Given the description of an element on the screen output the (x, y) to click on. 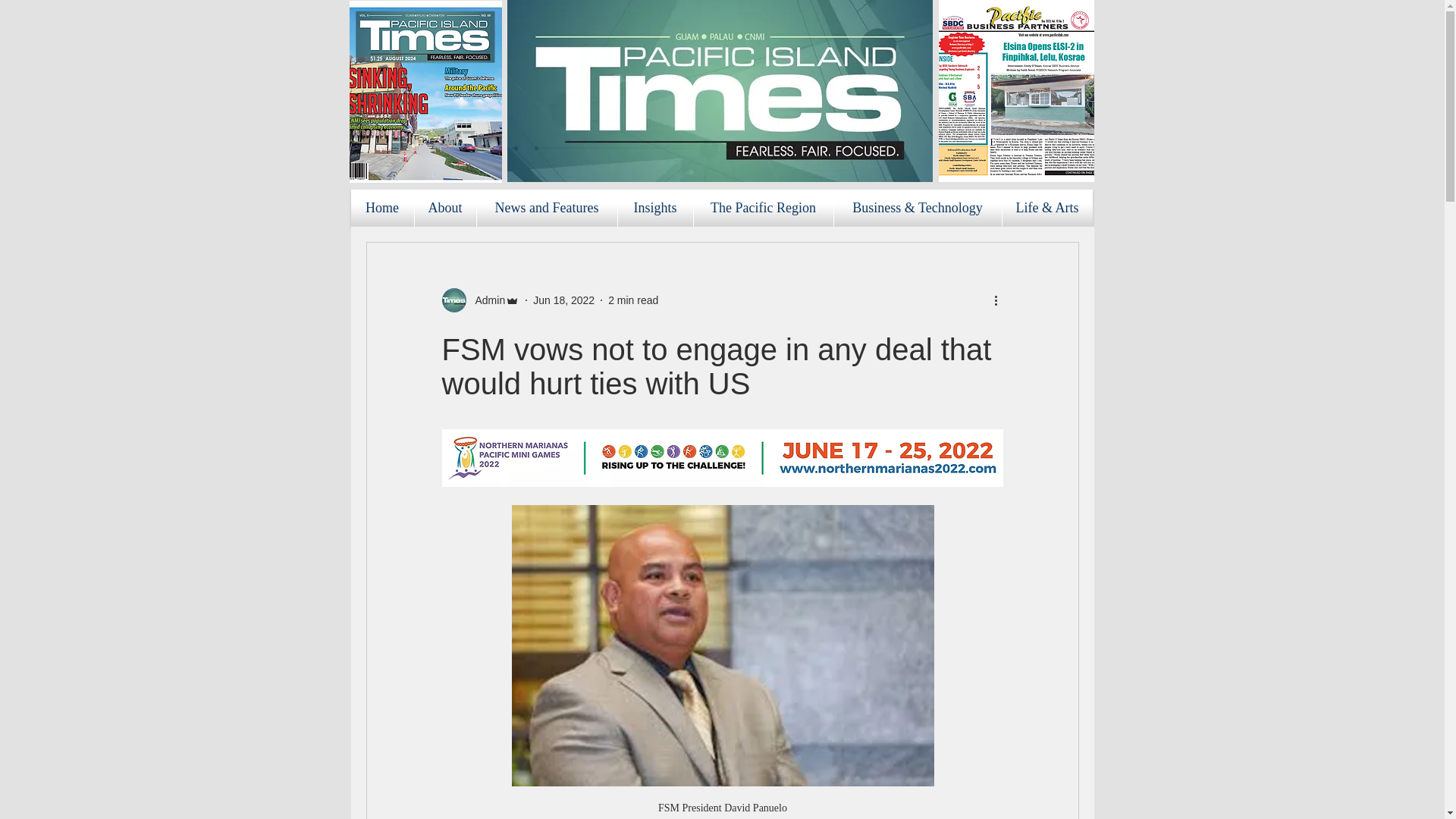
2 min read (633, 300)
Jun 18, 2022 (563, 300)
About (444, 207)
Admin (485, 300)
Insights (655, 207)
Home (381, 207)
News and Features (545, 207)
The Pacific Region (762, 207)
